Given the description of an element on the screen output the (x, y) to click on. 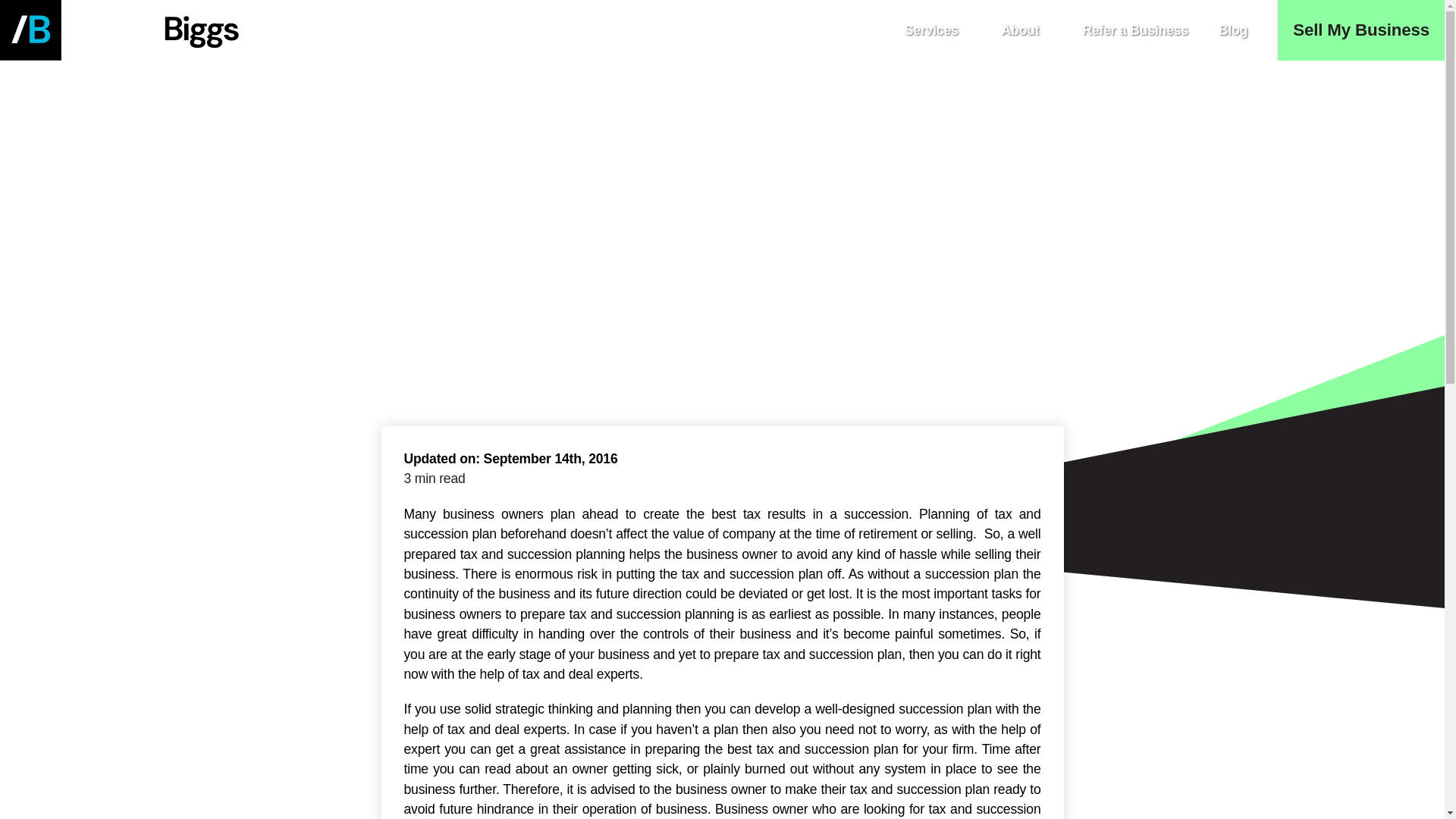
About (1026, 30)
Services (937, 30)
Blog (451, 183)
Blog (1232, 30)
Refer a Business (1134, 30)
Home (396, 183)
